Given the description of an element on the screen output the (x, y) to click on. 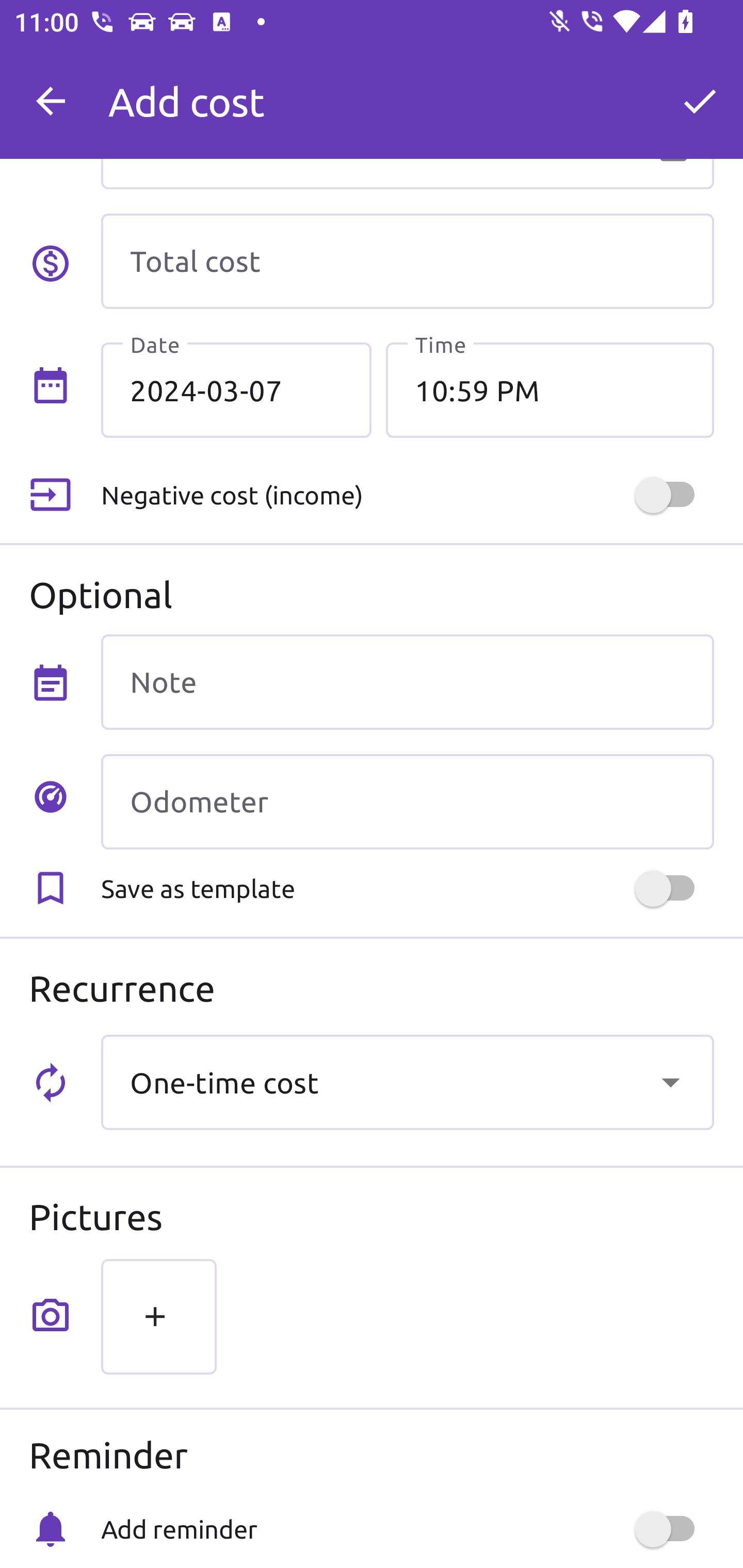
M My Car 0 km (407, 92)
Navigate up (50, 101)
OK (699, 101)
Total cost  (407, 260)
2024-03-07 (236, 389)
10:59 PM (549, 389)
Negative cost (income) (407, 494)
Note (407, 682)
Odometer (407, 801)
Save as template (407, 887)
One-time cost (407, 1082)
Show dropdown menu (670, 1081)
Add reminder (407, 1529)
